Given the description of an element on the screen output the (x, y) to click on. 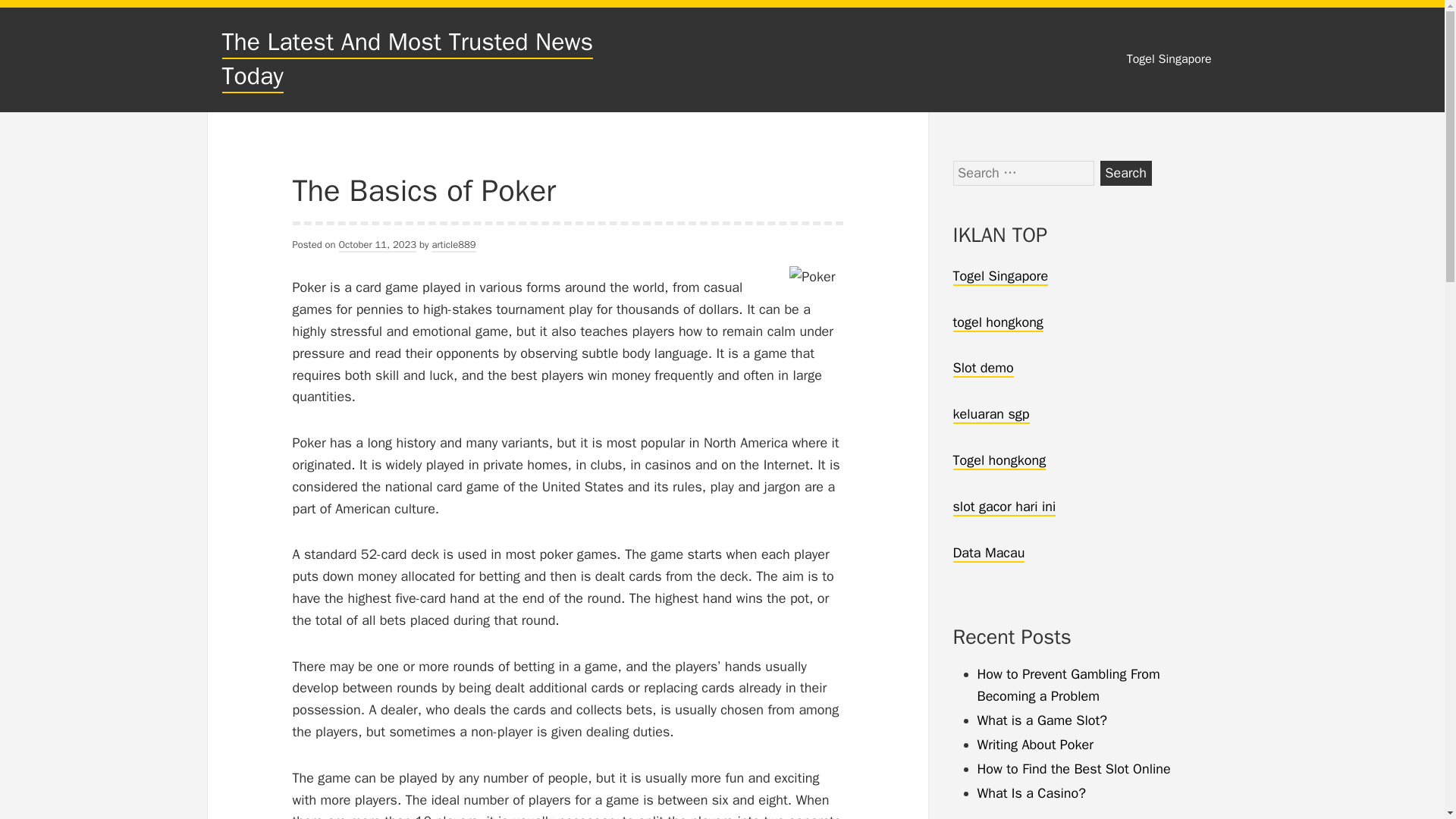
What is a Game Slot? (1041, 719)
Togel hongkong (998, 461)
article889 (453, 245)
The Latest And Most Trusted News Today (406, 59)
slot gacor hari ini (1003, 506)
October 11, 2023 (377, 245)
Search (1125, 173)
How to Prevent Gambling From Becoming a Problem (1067, 684)
How to Find the Best Slot Online (1073, 768)
togel hongkong (997, 322)
Togel Singapore (1000, 276)
Writing About Poker (1034, 744)
keluaran sgp (990, 414)
Search (1125, 173)
